Given the description of an element on the screen output the (x, y) to click on. 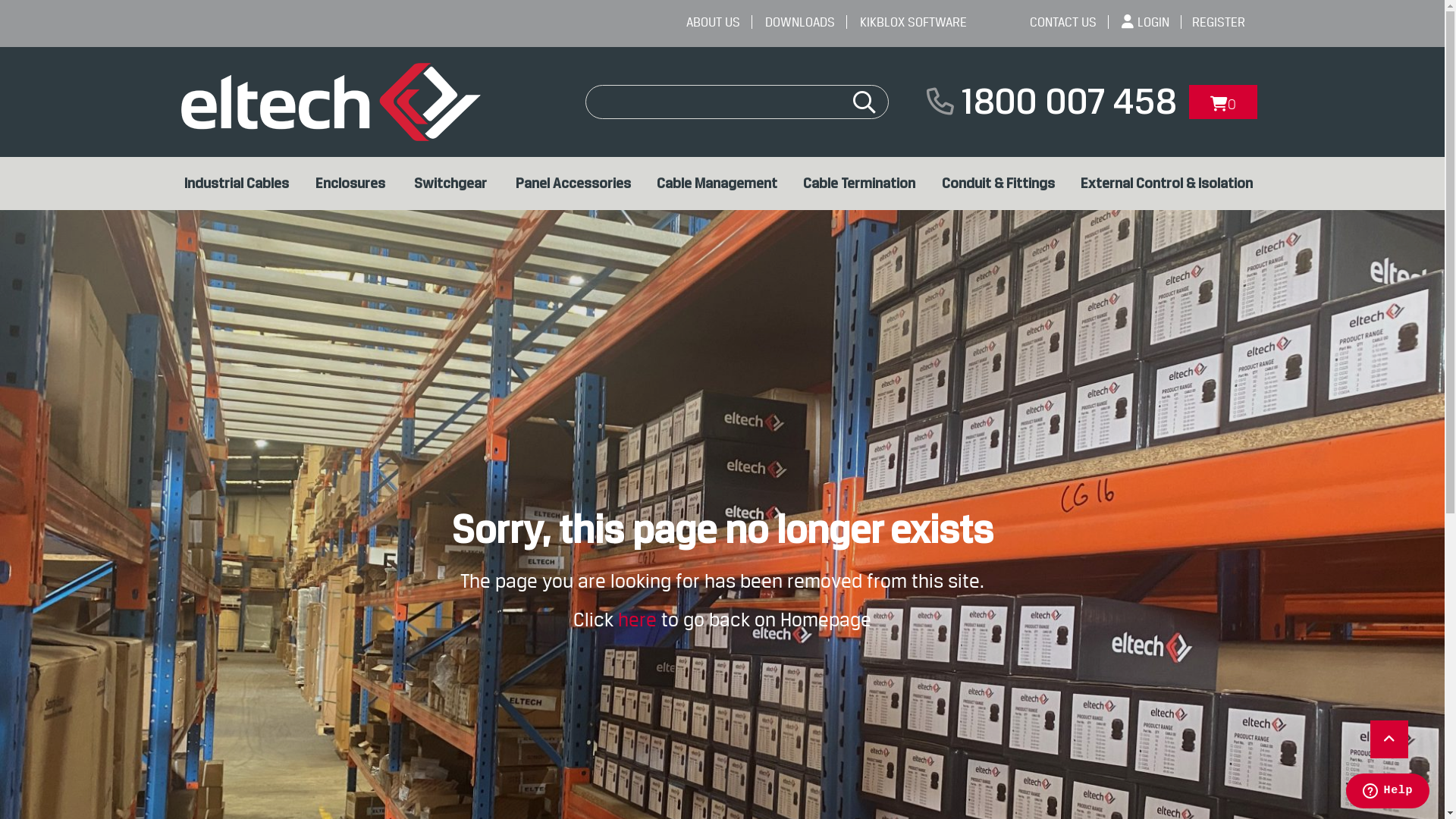
Search Element type: text (863, 95)
DOWNLOADS Element type: text (805, 21)
CONTACT US Element type: text (1068, 21)
Enclosures Element type: text (356, 183)
KIKBLOX SOFTWARE Element type: text (919, 21)
Opens a widget where you can chat to one of our agents Element type: hover (1387, 792)
Conduit & Fittings Element type: text (1003, 183)
ABOUT US Element type: text (718, 21)
Panel Accessories Element type: text (578, 183)
External Control & Isolation Element type: text (1170, 183)
Cable Management Element type: text (722, 183)
LOGIN Element type: text (1150, 21)
0 Element type: text (1223, 101)
Switchgear Element type: text (457, 183)
Industrial Cables Element type: text (241, 183)
Cable Termination Element type: text (864, 183)
1800 007 458 Element type: text (1068, 101)
here  Element type: text (639, 619)
REGISTER Element type: text (1224, 21)
